Given the description of an element on the screen output the (x, y) to click on. 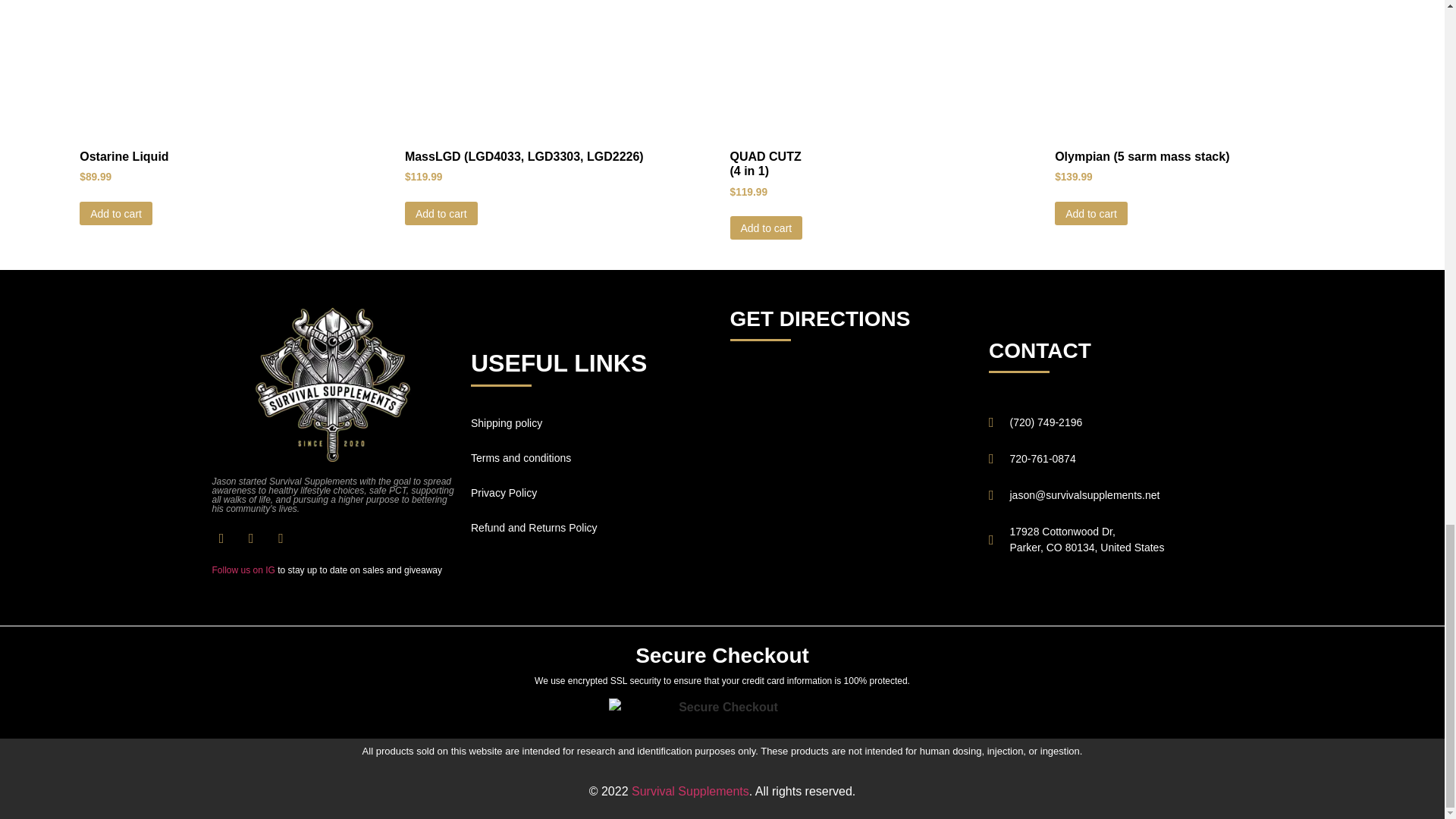
Add to cart (765, 227)
Follow us on IG (243, 570)
Add to cart (116, 213)
Refund and Returns Policy (592, 527)
Add to cart (1090, 213)
Add to cart (440, 213)
Shipping policy (592, 422)
Privacy Policy (592, 492)
Terms and conditions (592, 457)
